Given the description of an element on the screen output the (x, y) to click on. 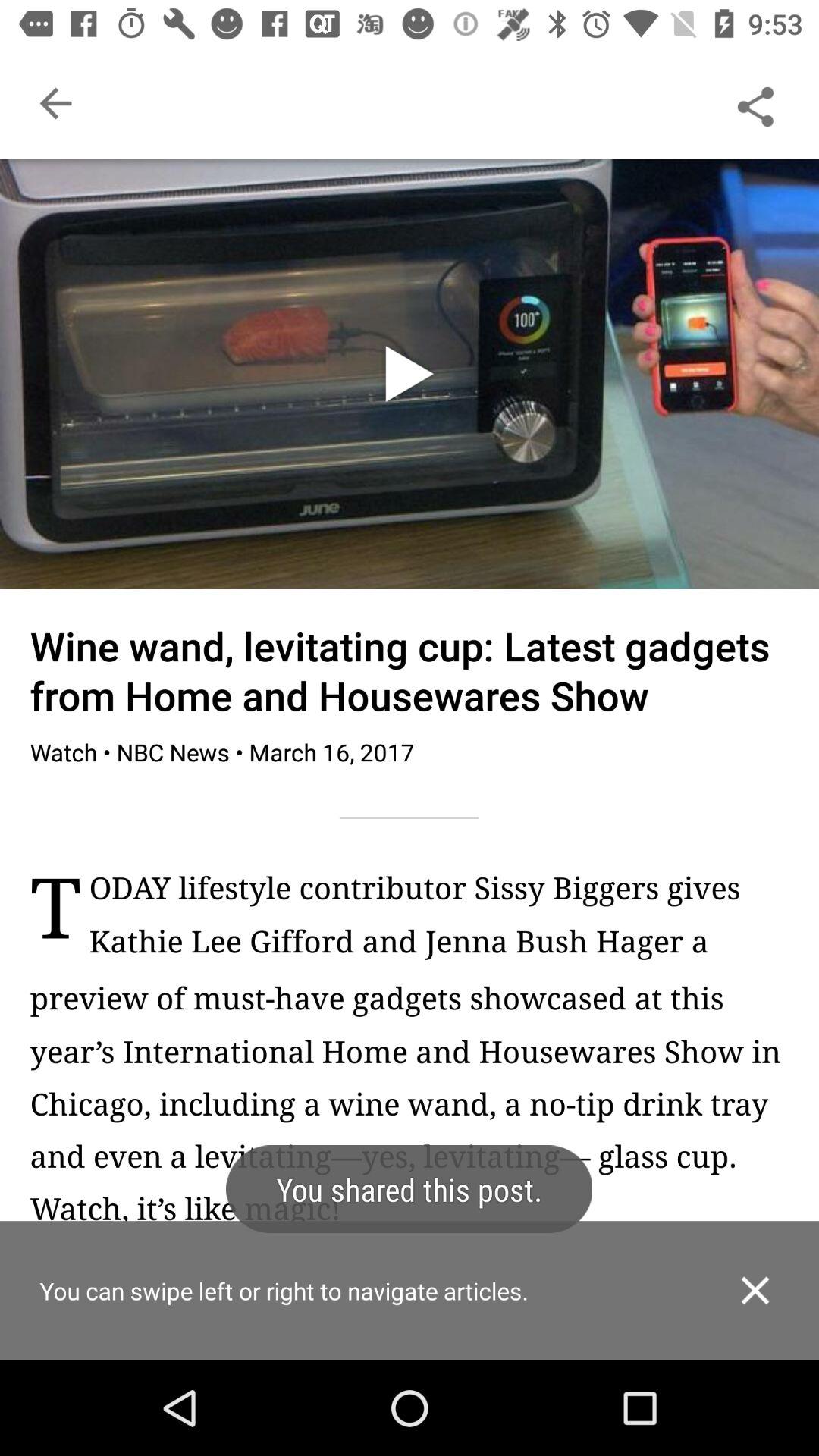
share the article (755, 103)
